Given the description of an element on the screen output the (x, y) to click on. 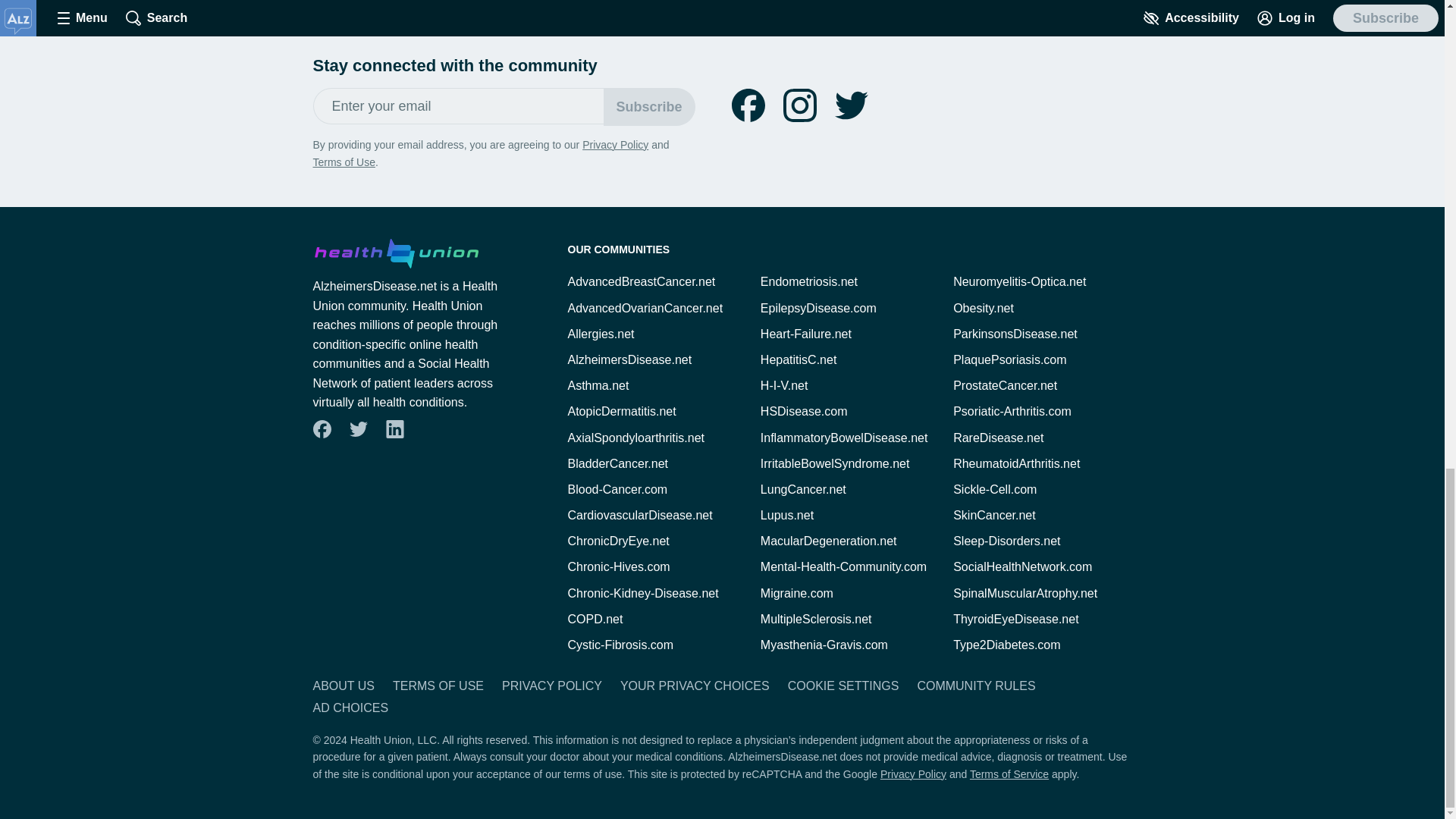
Follow us on linkedin (394, 429)
Follow us on linkedin (393, 428)
Follow us on facebook (747, 105)
AdvancedBreastCancer.net (640, 281)
Follow us on twitter (850, 105)
AlzheimersDisease.net (629, 359)
AxialSpondyloarthritis.net (635, 437)
AdvancedOvarianCancer.net (644, 308)
Blood-Cancer.com (616, 489)
Follow us on twitter (850, 105)
Subscribe (649, 106)
Follow us on facebook (321, 429)
CardiovascularDisease.net (639, 514)
Follow us on twitter (357, 429)
Allergies.net (600, 333)
